Given the description of an element on the screen output the (x, y) to click on. 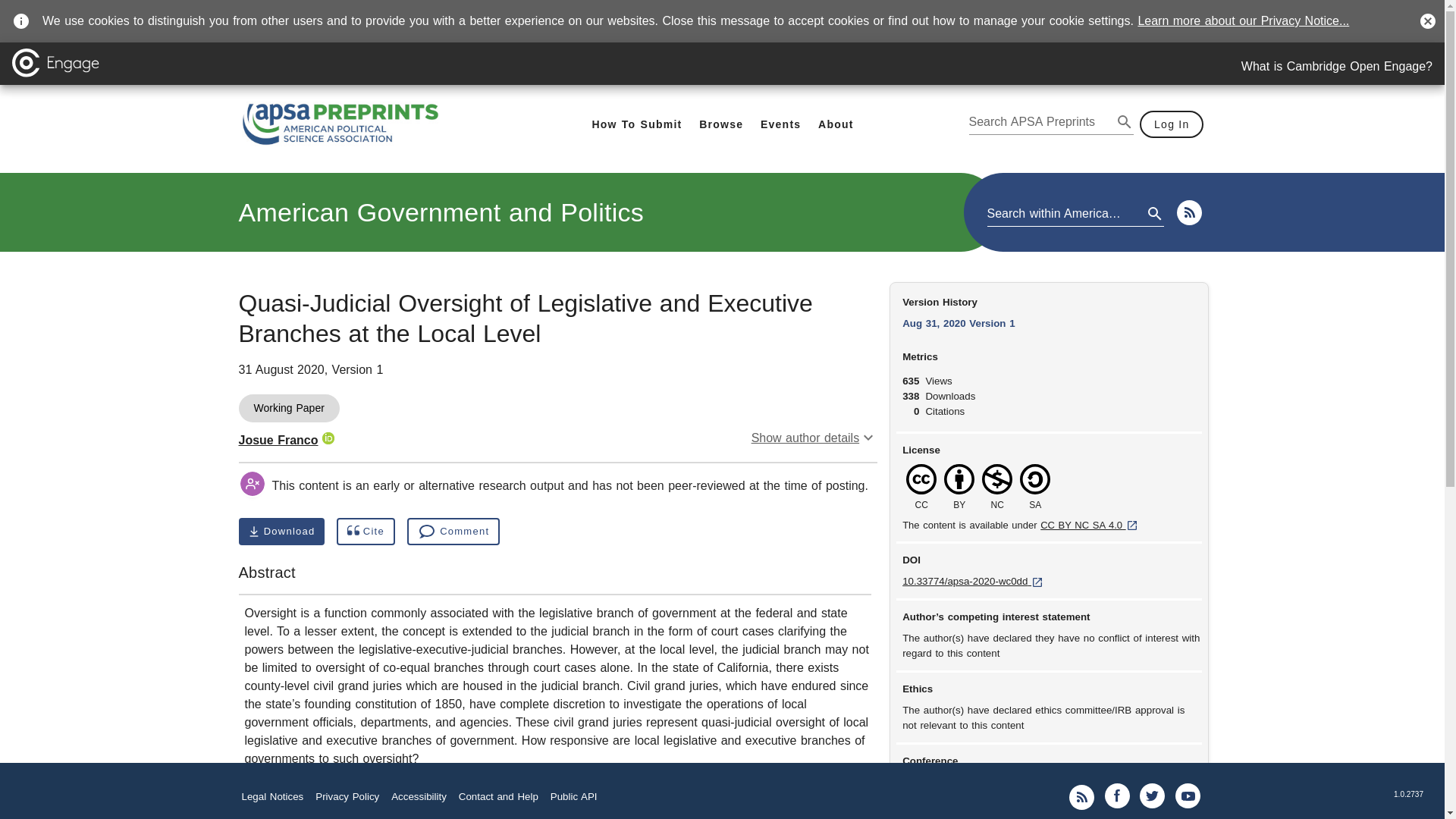
Comment (453, 531)
What is Cambridge Open Engage? (1336, 66)
Browse (721, 124)
Cite (365, 531)
How To Submit (636, 124)
Show author details (440, 212)
Events (814, 437)
Log In (781, 124)
About (1172, 124)
Josue Franco (835, 124)
Download (277, 440)
